Given the description of an element on the screen output the (x, y) to click on. 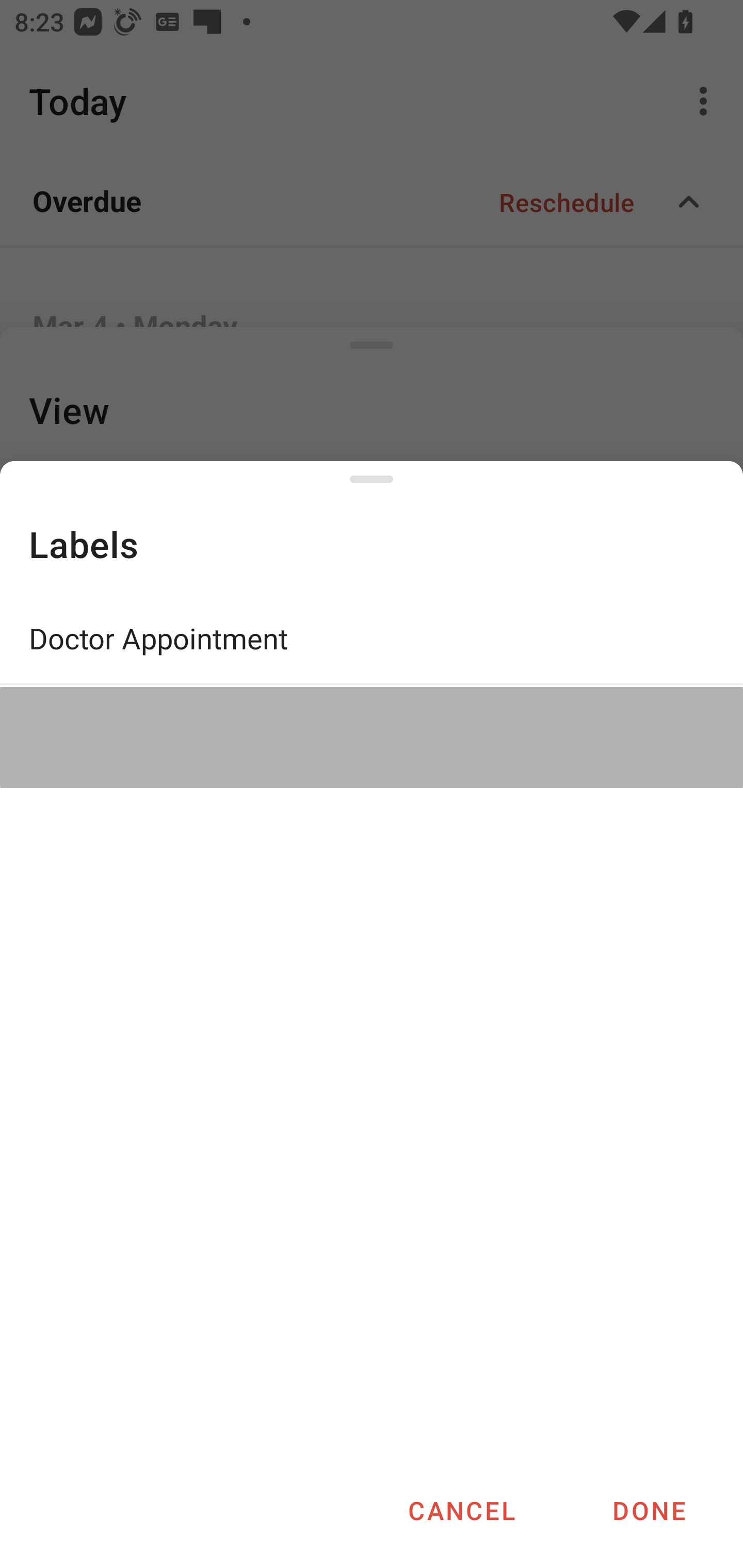
Doctor Appointment (371, 638)
CANCEL (460, 1510)
DONE (648, 1510)
